Given the description of an element on the screen output the (x, y) to click on. 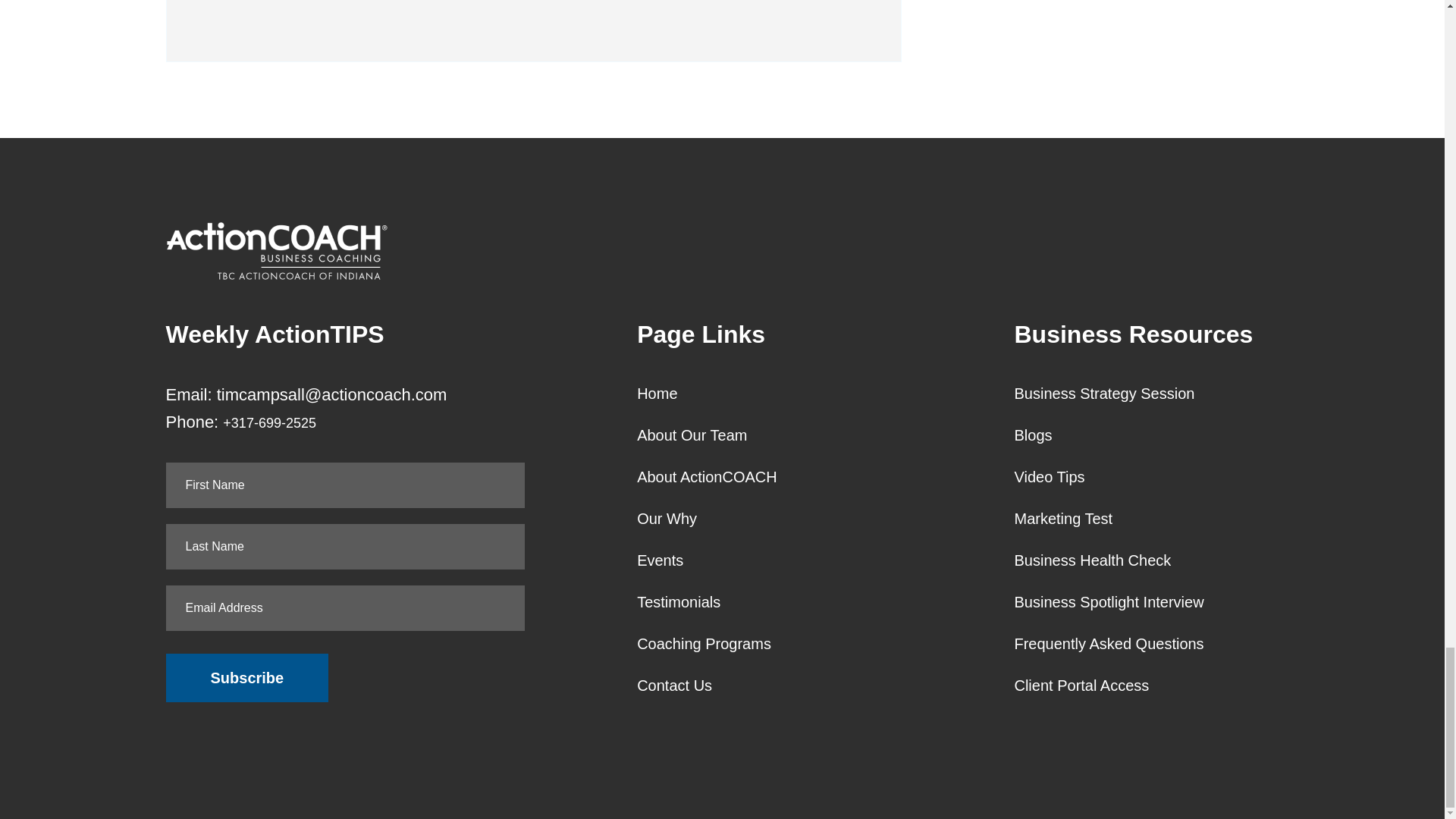
Subscribe (247, 677)
